Given the description of an element on the screen output the (x, y) to click on. 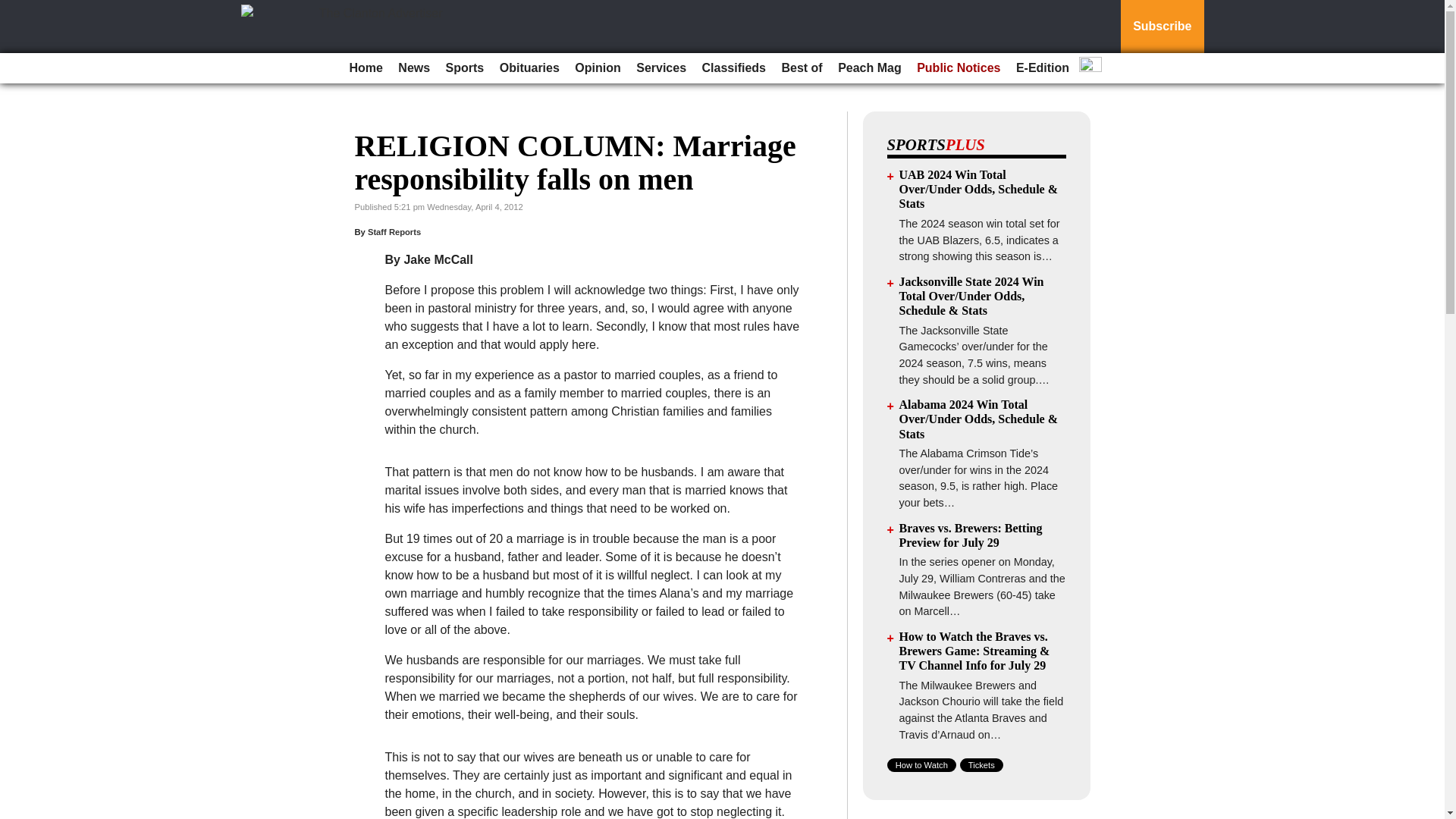
Home (365, 68)
Public Notices (958, 68)
Obituaries (529, 68)
Subscribe (1162, 26)
Go (13, 9)
Sports (464, 68)
Services (661, 68)
Peach Mag (869, 68)
Classifieds (733, 68)
Tickets (981, 765)
E-Edition (1042, 68)
Staff Reports (394, 231)
How to Watch (921, 765)
News (413, 68)
Best of (801, 68)
